Given the description of an element on the screen output the (x, y) to click on. 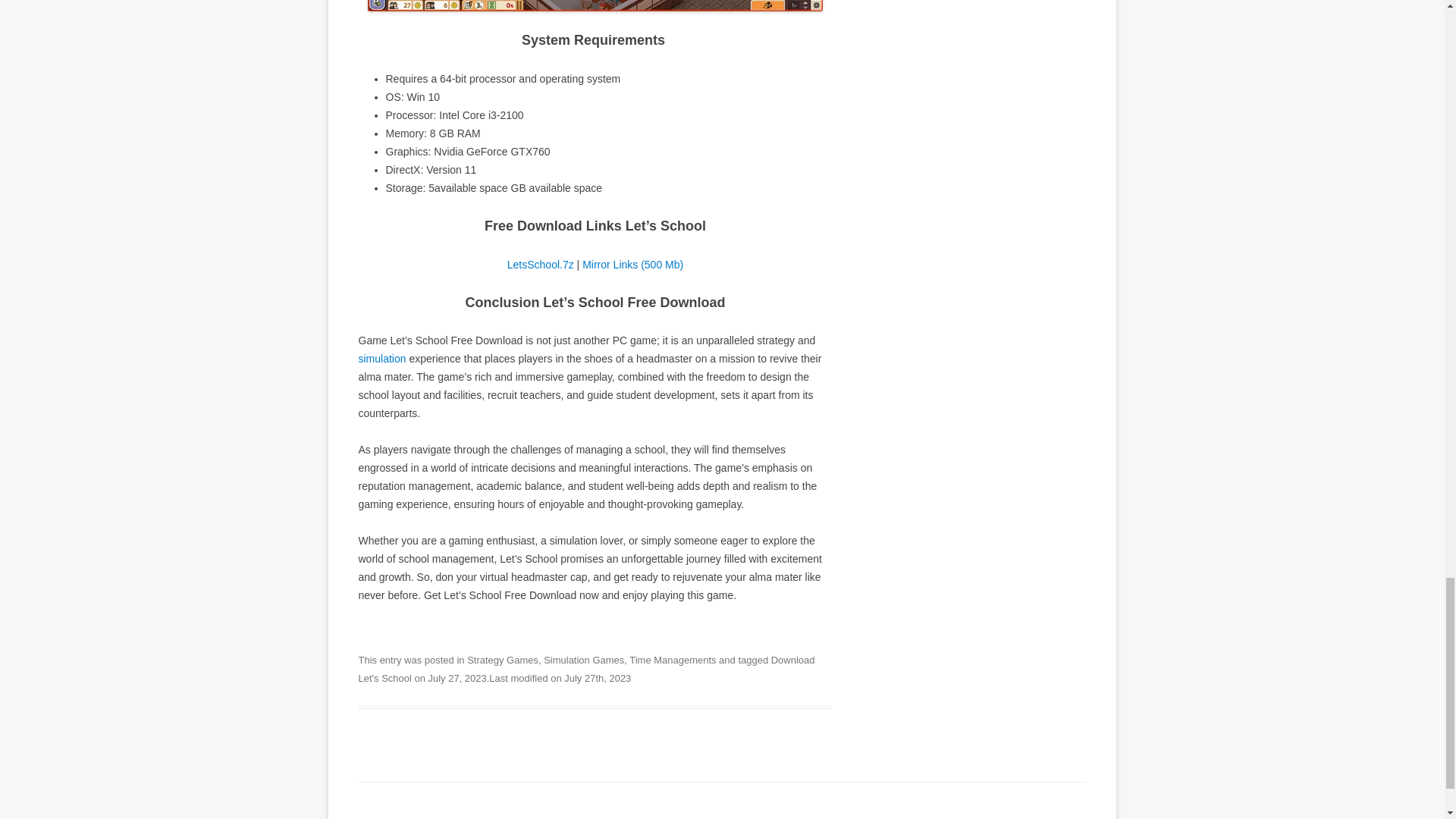
simulation (382, 358)
July 27, 2023 (457, 677)
Simulation Games (583, 659)
LetsSchool.7z (539, 264)
2:04 pm (457, 677)
Let's School (595, 5)
Download Let's School (585, 668)
Strategy Games (502, 659)
Time Managements (672, 659)
